Given the description of an element on the screen output the (x, y) to click on. 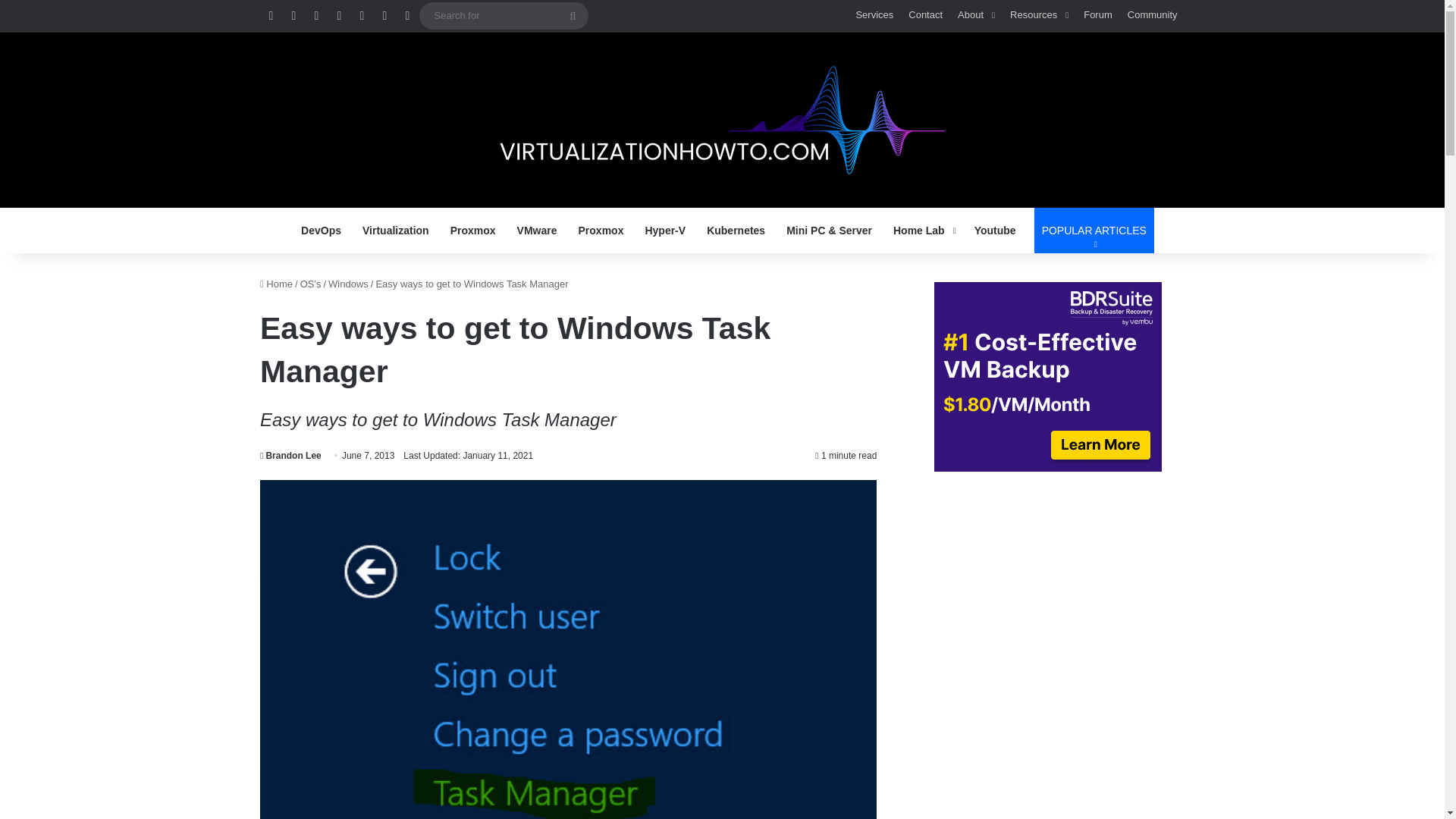
VMware (536, 230)
Contact (925, 15)
Proxmox (472, 230)
Resources (1093, 230)
Virtualization Howto (1039, 15)
Home Lab (721, 120)
Virtualization (922, 230)
Services (395, 230)
Youtube (874, 15)
